Given the description of an element on the screen output the (x, y) to click on. 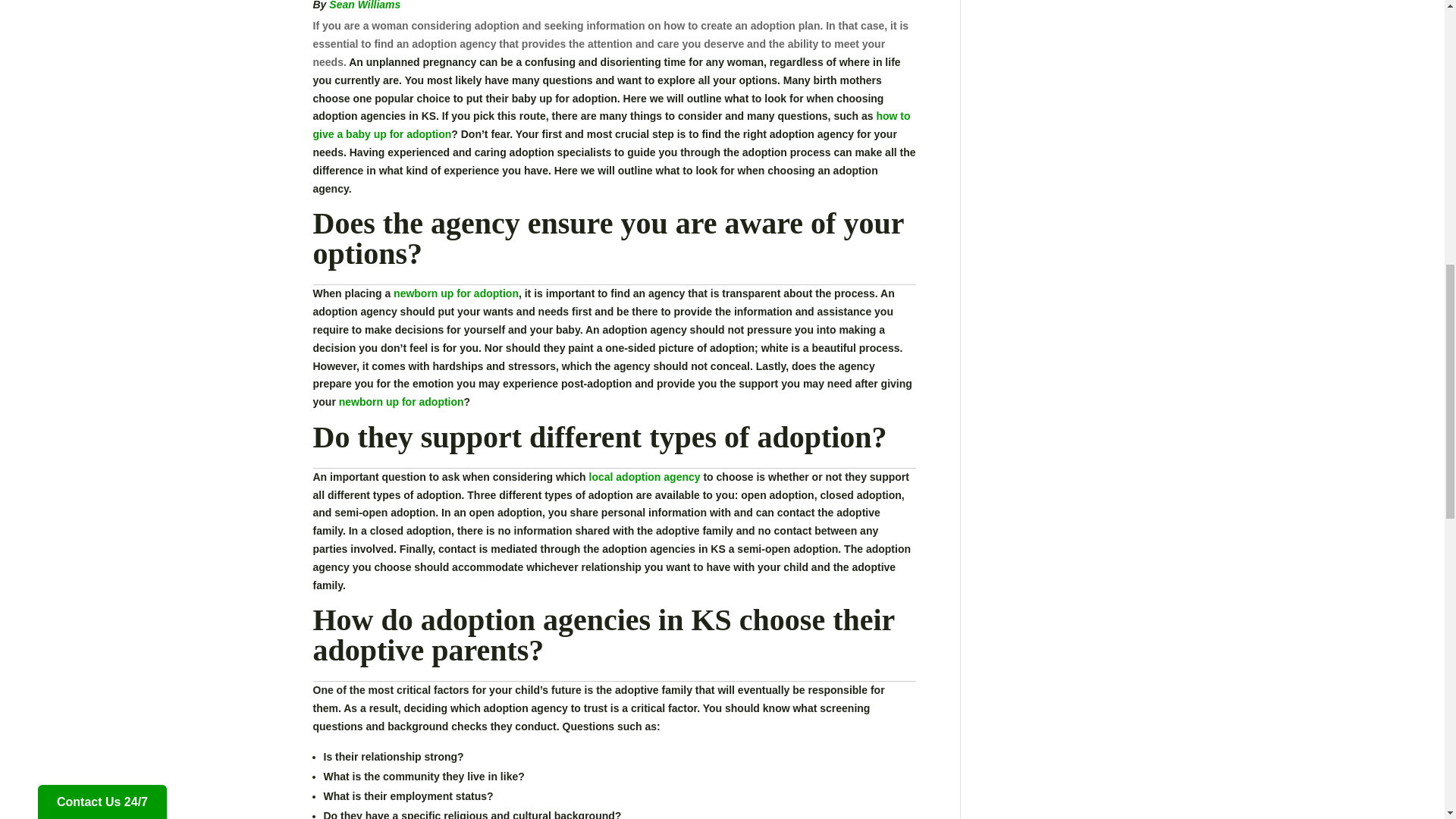
Sean Williams (364, 5)
newborn up for adoption (401, 401)
local adoption agency (644, 476)
how to give a baby up for adoption (611, 124)
newborn up for adoption (455, 293)
